Given the description of an element on the screen output the (x, y) to click on. 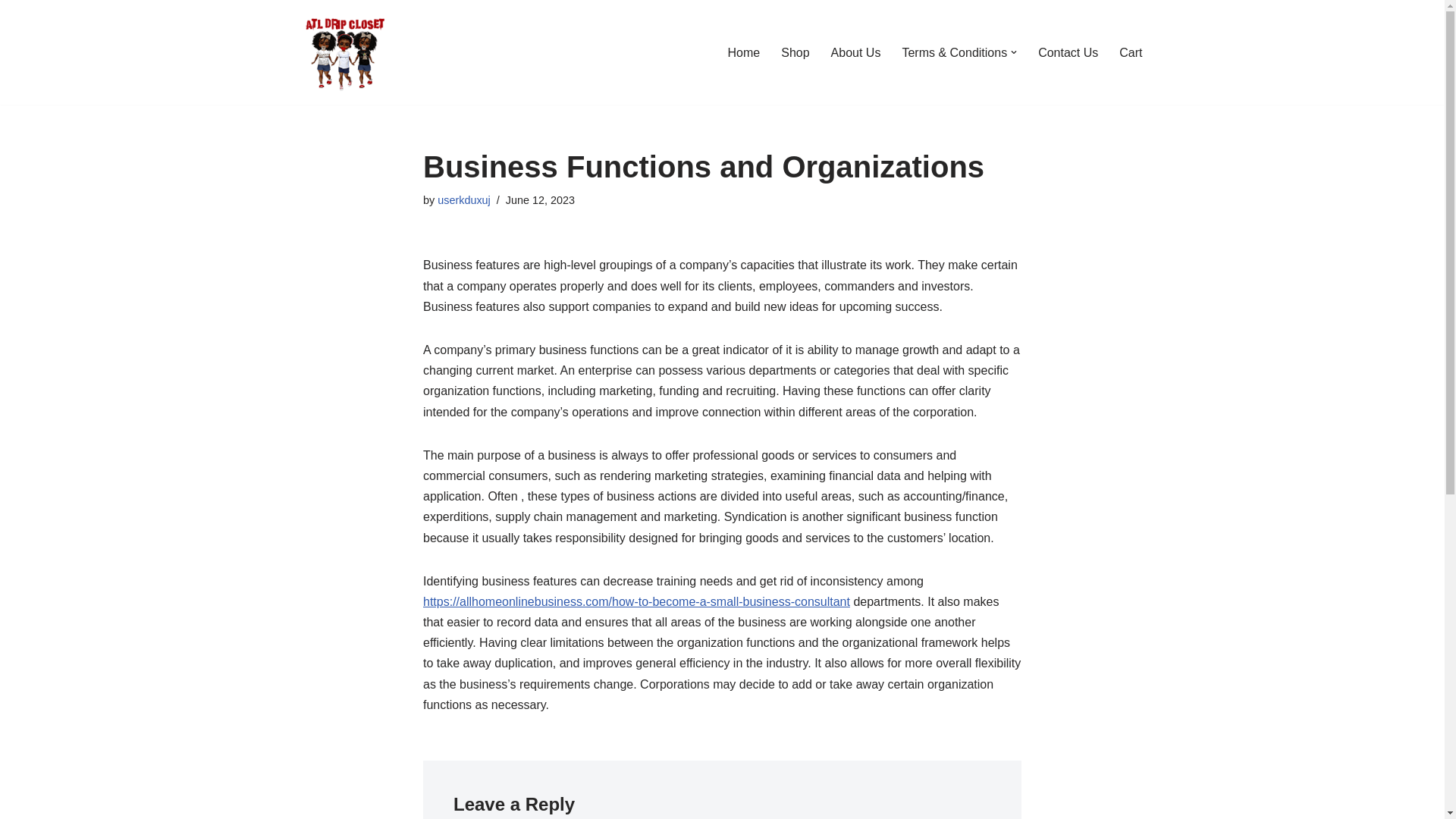
Cart (1130, 52)
Home (744, 52)
Shop (794, 52)
Posts by userkduxuj (464, 200)
Contact Us (1067, 52)
Skip to content (11, 31)
About Us (855, 52)
userkduxuj (464, 200)
